Given the description of an element on the screen output the (x, y) to click on. 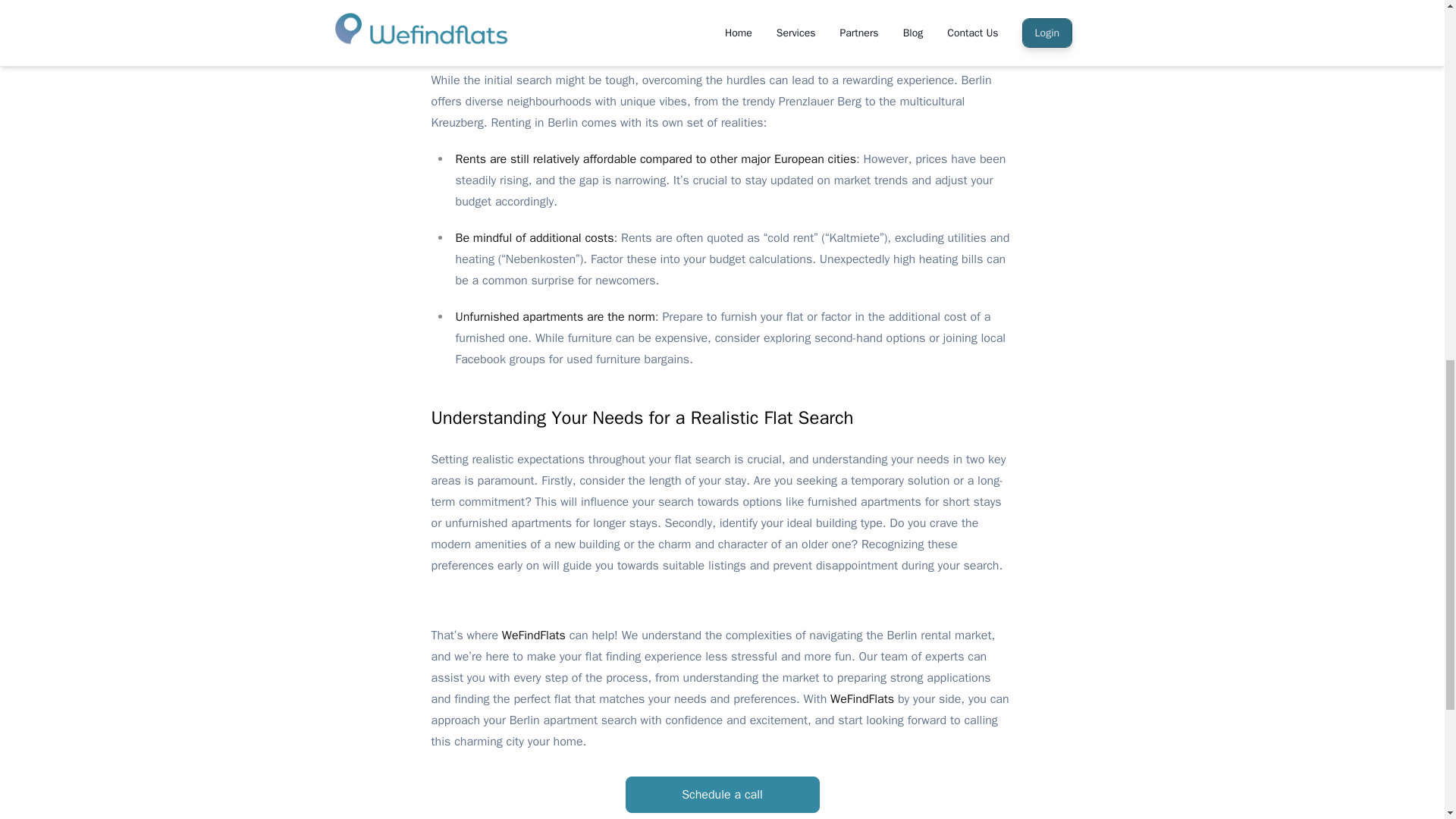
Schedule a call (721, 794)
